Given the description of an element on the screen output the (x, y) to click on. 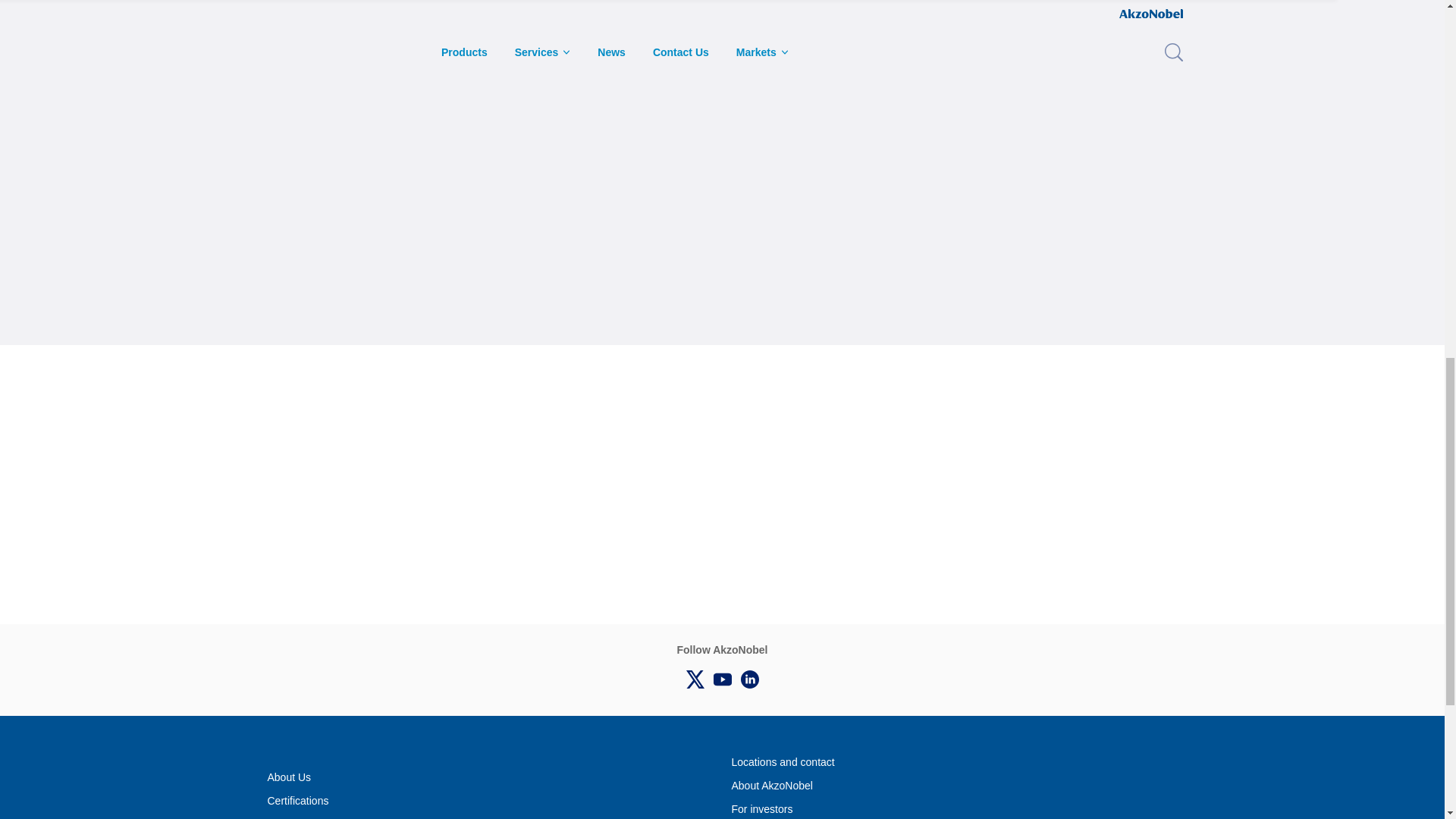
Certifications (297, 801)
Follow AkzoNobel (748, 679)
About Us (288, 777)
Follow AkzoNobel (694, 679)
Terms and Conditions (317, 816)
Follow AkzoNobel (721, 679)
